Given the description of an element on the screen output the (x, y) to click on. 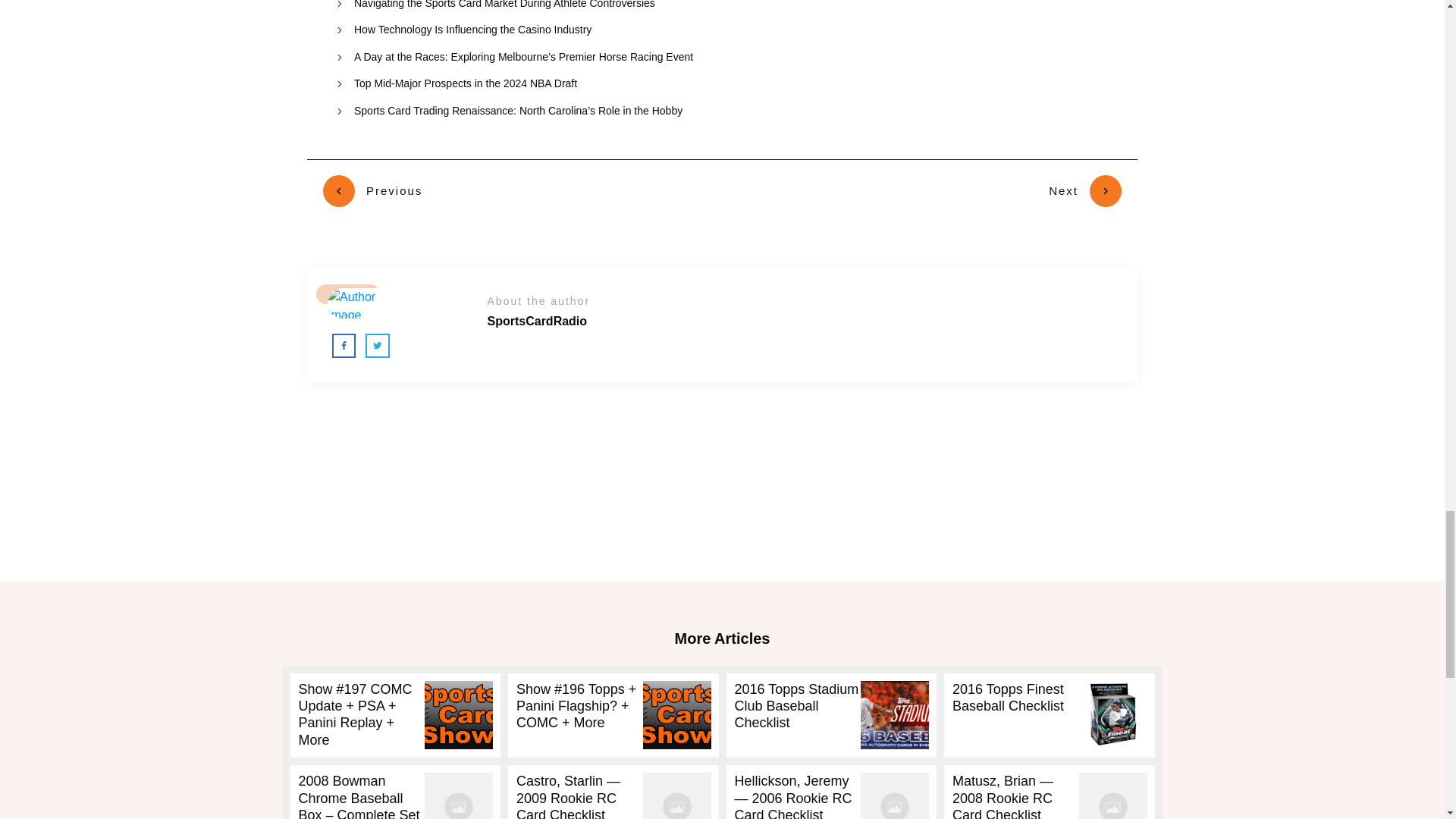
2016 Topps Finest Baseball Checklist (1008, 697)
2016 Topps Stadium Club Baseball Checklist (796, 706)
